Given the description of an element on the screen output the (x, y) to click on. 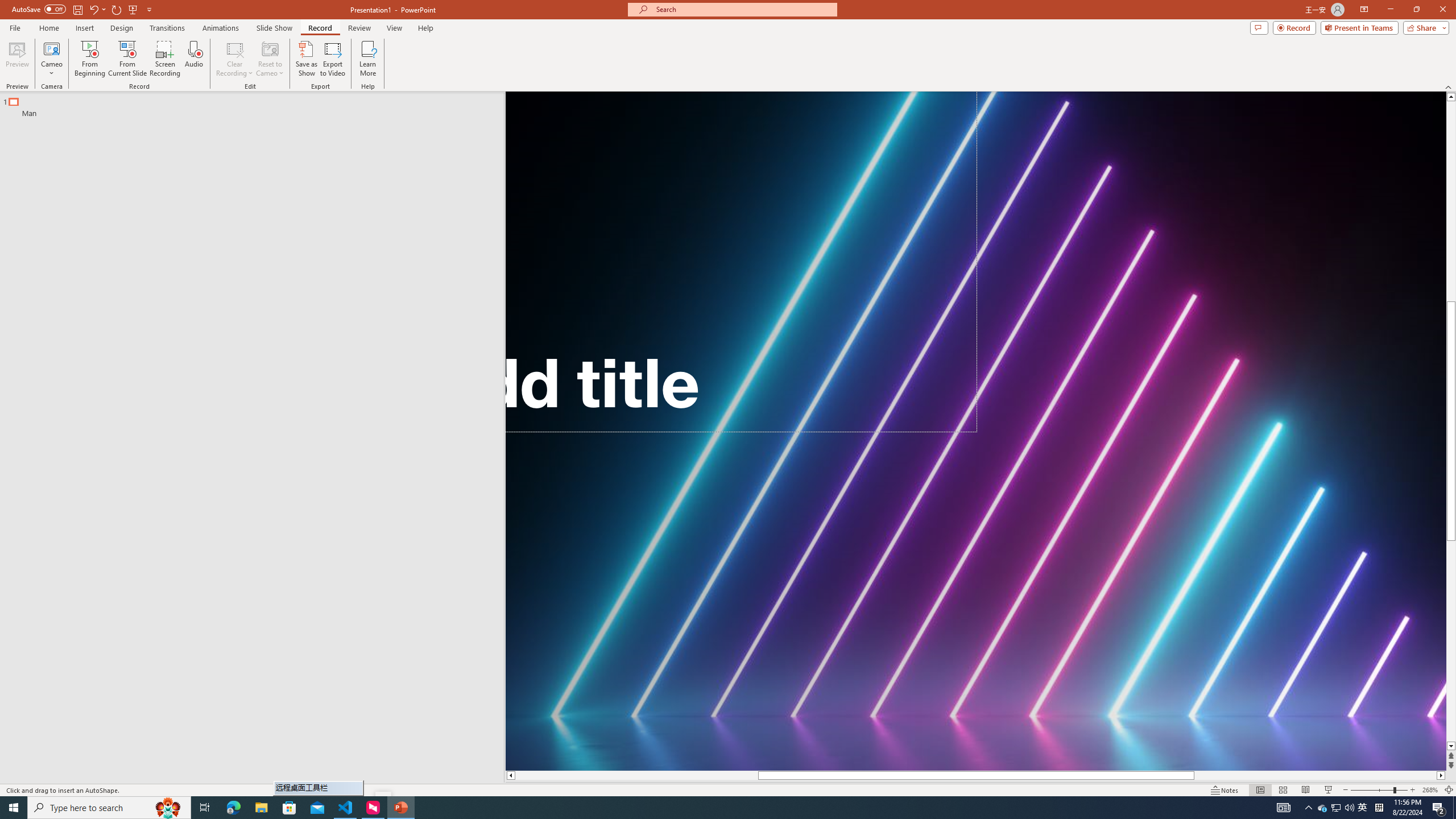
From Beginning... (89, 58)
